Given the description of an element on the screen output the (x, y) to click on. 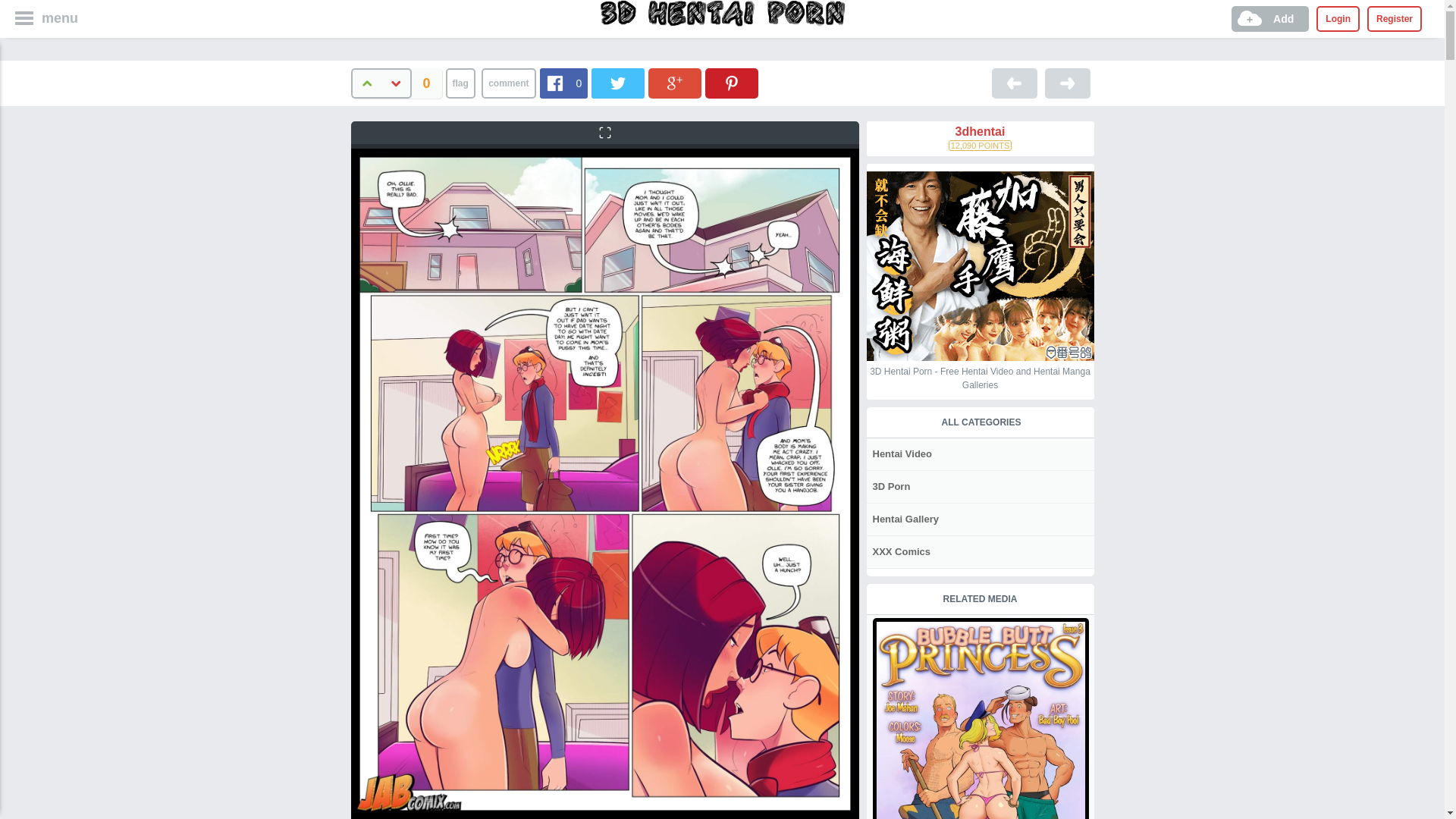
+ Element type: text (365, 83)
Click to vote down Element type: hover (395, 83)
Share on Twitter Element type: hover (617, 83)
3D Porn Element type: text (889, 486)
Pin It Element type: hover (731, 83)
close Element type: text (18, 15)
Click to vote up Element type: hover (365, 83)
Answer this Media Element type: hover (508, 83)
JabComix- Under a Spell Element type: hover (1067, 83)
ALL CATEGORIES Element type: text (980, 422)
3dhentai Element type: text (979, 131)
Flag this Media as spam or inappropriate Element type: hover (460, 83)
JabComix- Red Angel No. 8 [Mark Kleanup] Element type: hover (1014, 83)
flag Element type: text (460, 83)
XXX Comics Element type: text (900, 551)
Hentai Gallery Element type: text (903, 519)
Share on Google Plus Element type: hover (674, 83)
comment Element type: text (508, 83)
Hentai Video Element type: text (900, 453)
Register Element type: text (1394, 18)
